Given the description of an element on the screen output the (x, y) to click on. 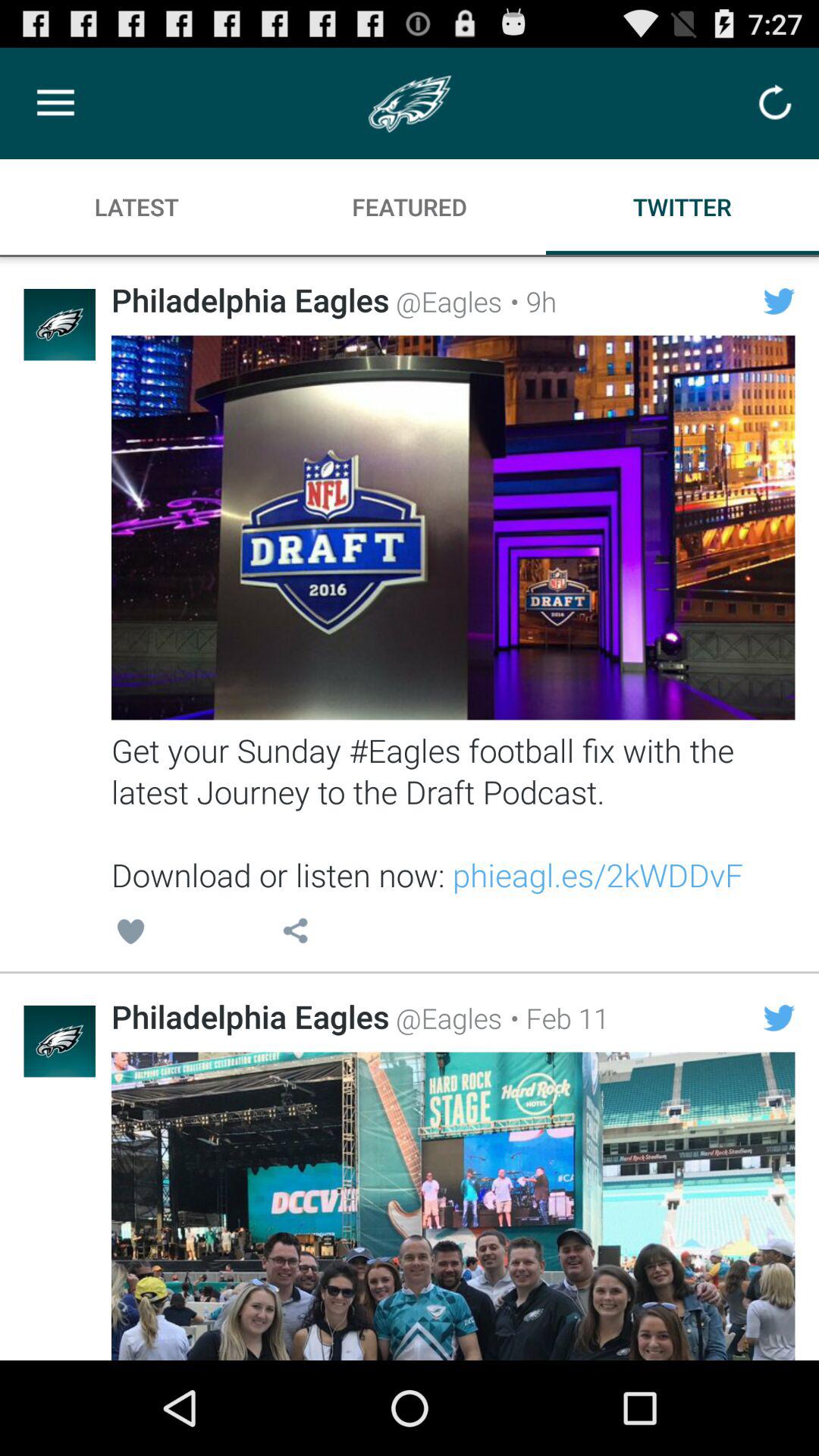
open link (453, 527)
